Given the description of an element on the screen output the (x, y) to click on. 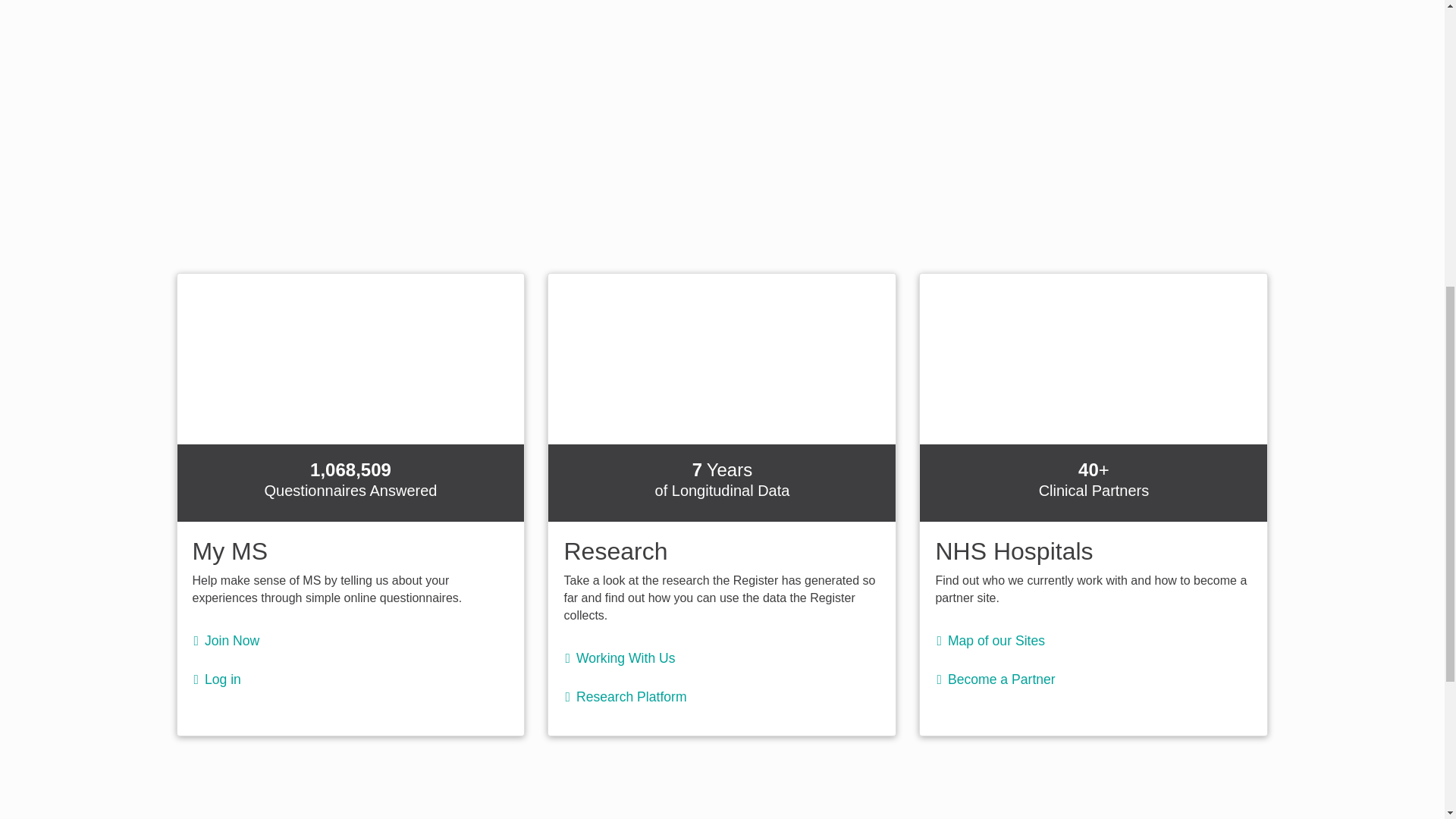
Working With Us (629, 658)
Join Now (236, 640)
Log in (227, 679)
Map of our Sites (999, 640)
Research Platform (634, 696)
Become a Partner (1004, 679)
